Given the description of an element on the screen output the (x, y) to click on. 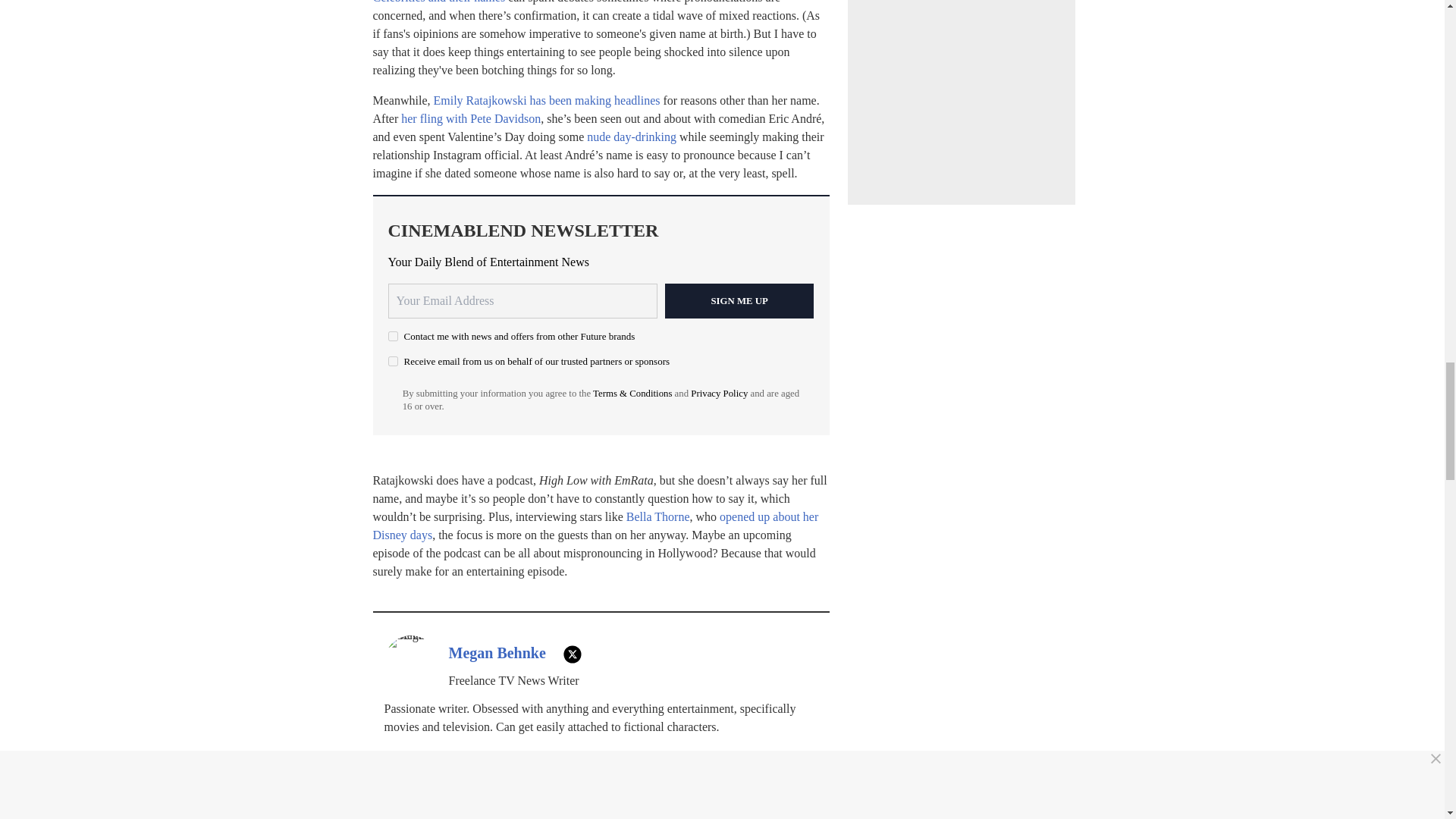
Sign me up (739, 300)
on (392, 361)
on (392, 336)
